Given the description of an element on the screen output the (x, y) to click on. 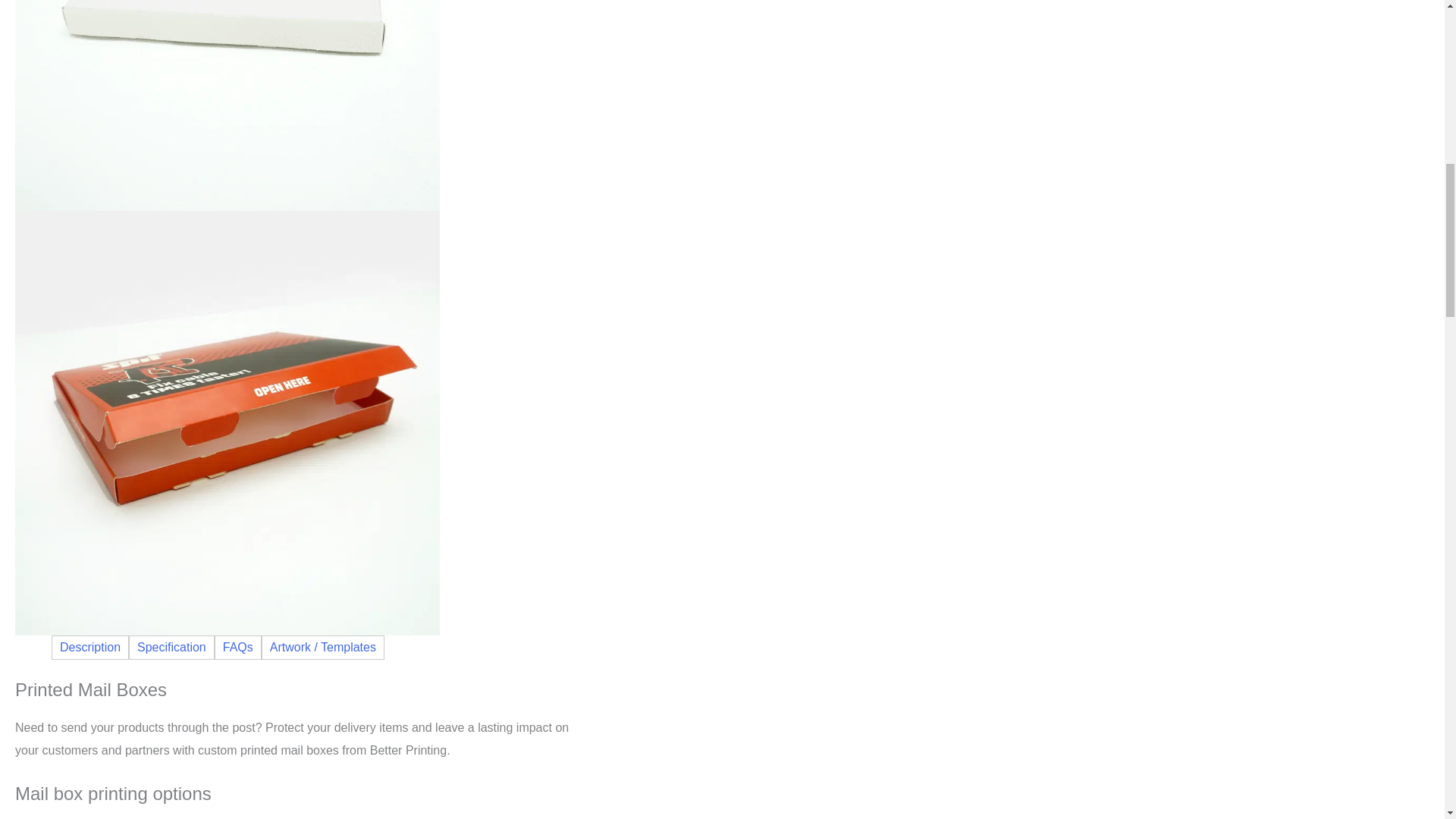
Opened Mailer Box (226, 422)
it cosmetics mailer (226, 2)
